Given the description of an element on the screen output the (x, y) to click on. 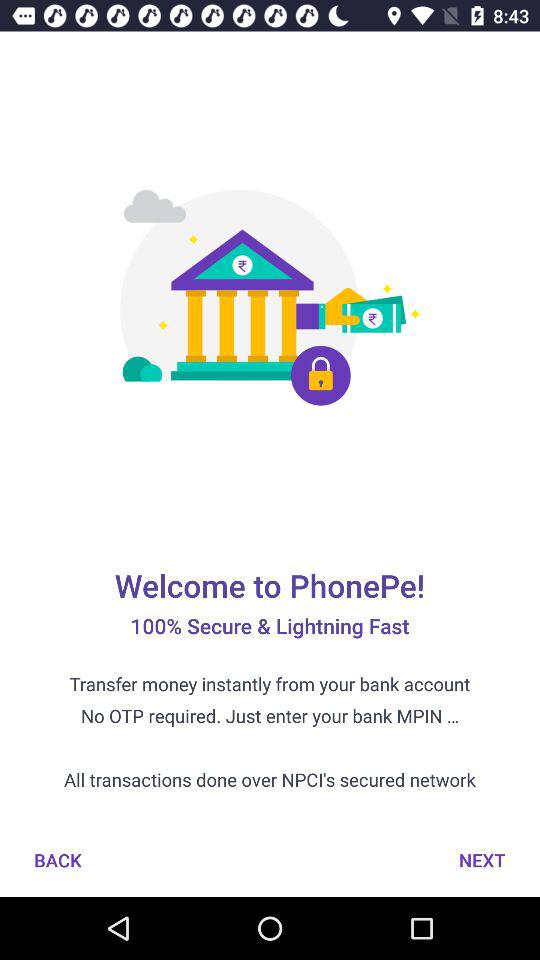
tap item below the transfer money instantly icon (57, 859)
